Given the description of an element on the screen output the (x, y) to click on. 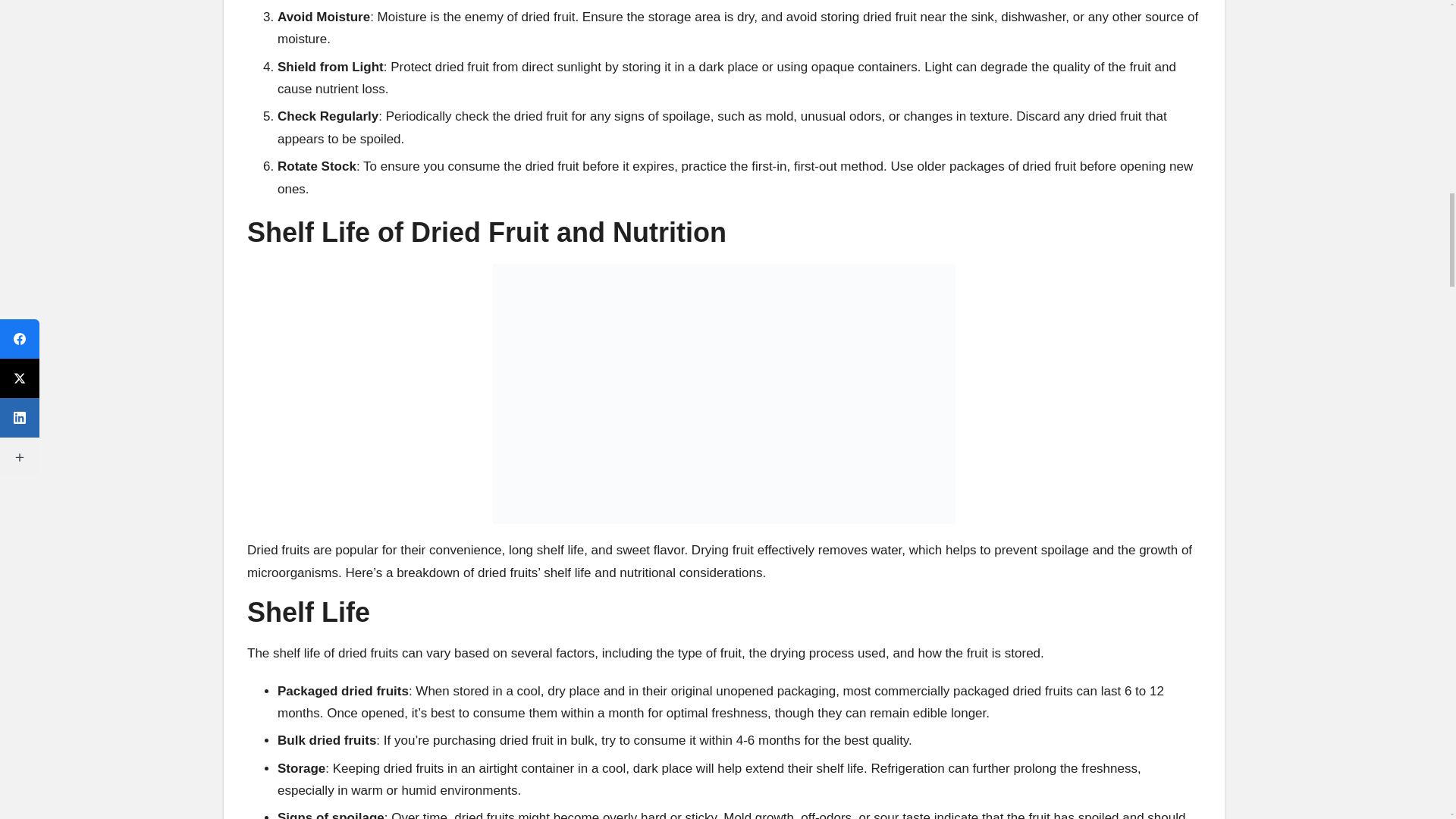
How Long Does Dried Fruit Last in the Pantry? 2 (724, 393)
